Given the description of an element on the screen output the (x, y) to click on. 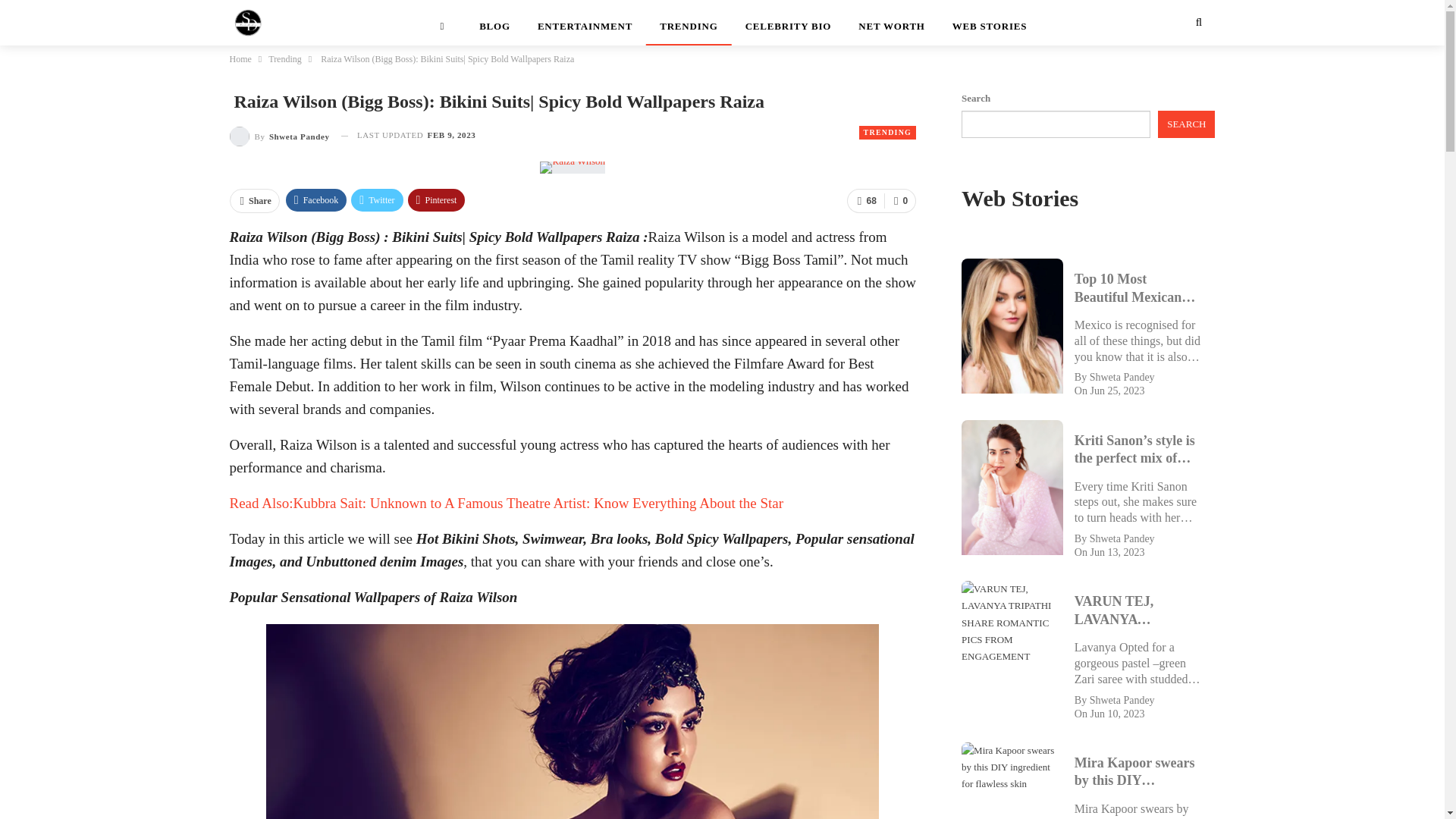
By Shweta Pandey (278, 135)
TRENDING (888, 132)
CELEBRITY BIO (788, 22)
TRENDING (688, 22)
Trending (284, 58)
Browse Author Articles (278, 135)
WEB STORIES (990, 22)
Twitter (376, 200)
NET WORTH (891, 22)
